Given the description of an element on the screen output the (x, y) to click on. 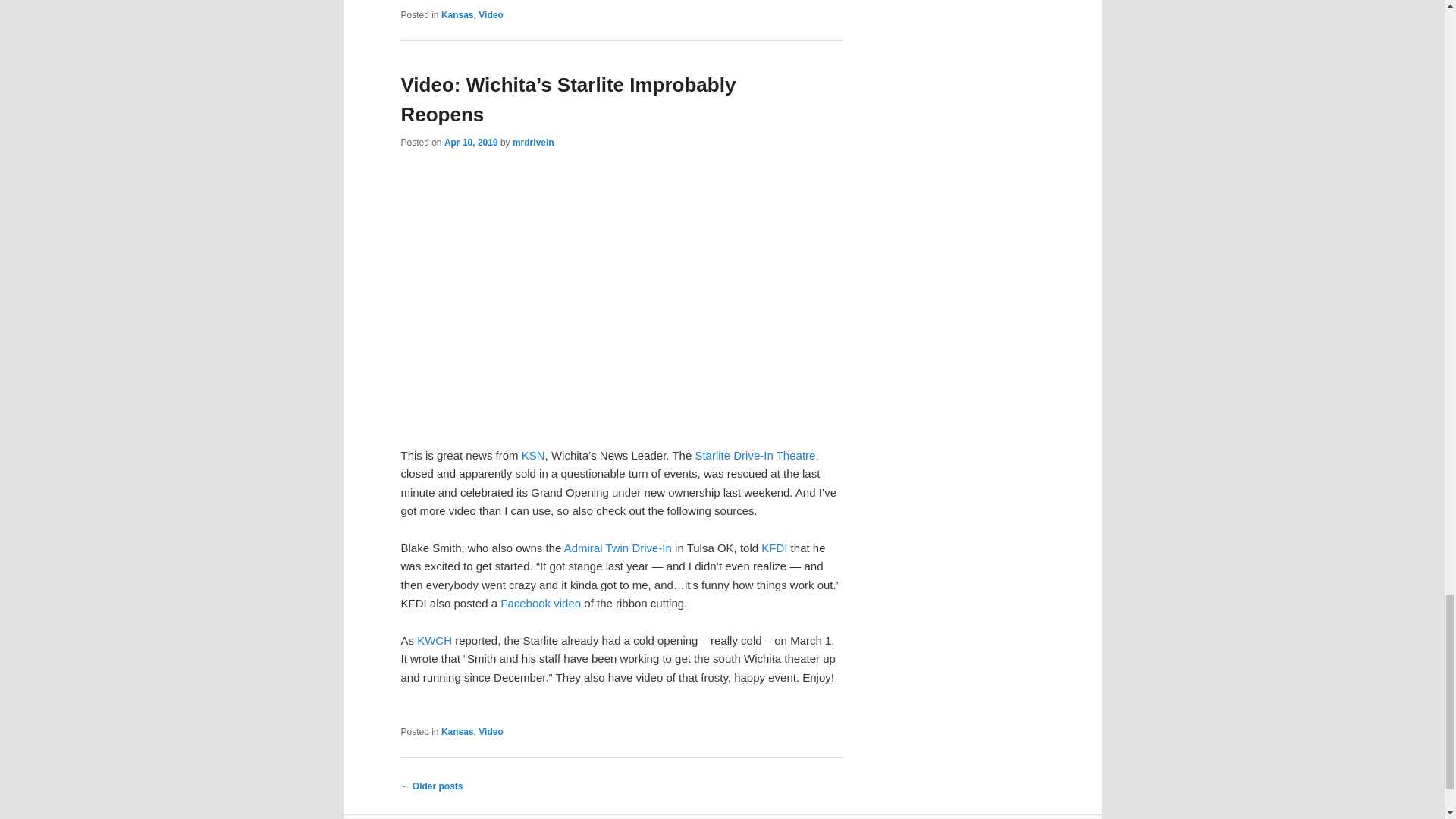
4:14 pm (470, 142)
Kansas (457, 14)
View all posts by mrdrivein (533, 142)
